Given the description of an element on the screen output the (x, y) to click on. 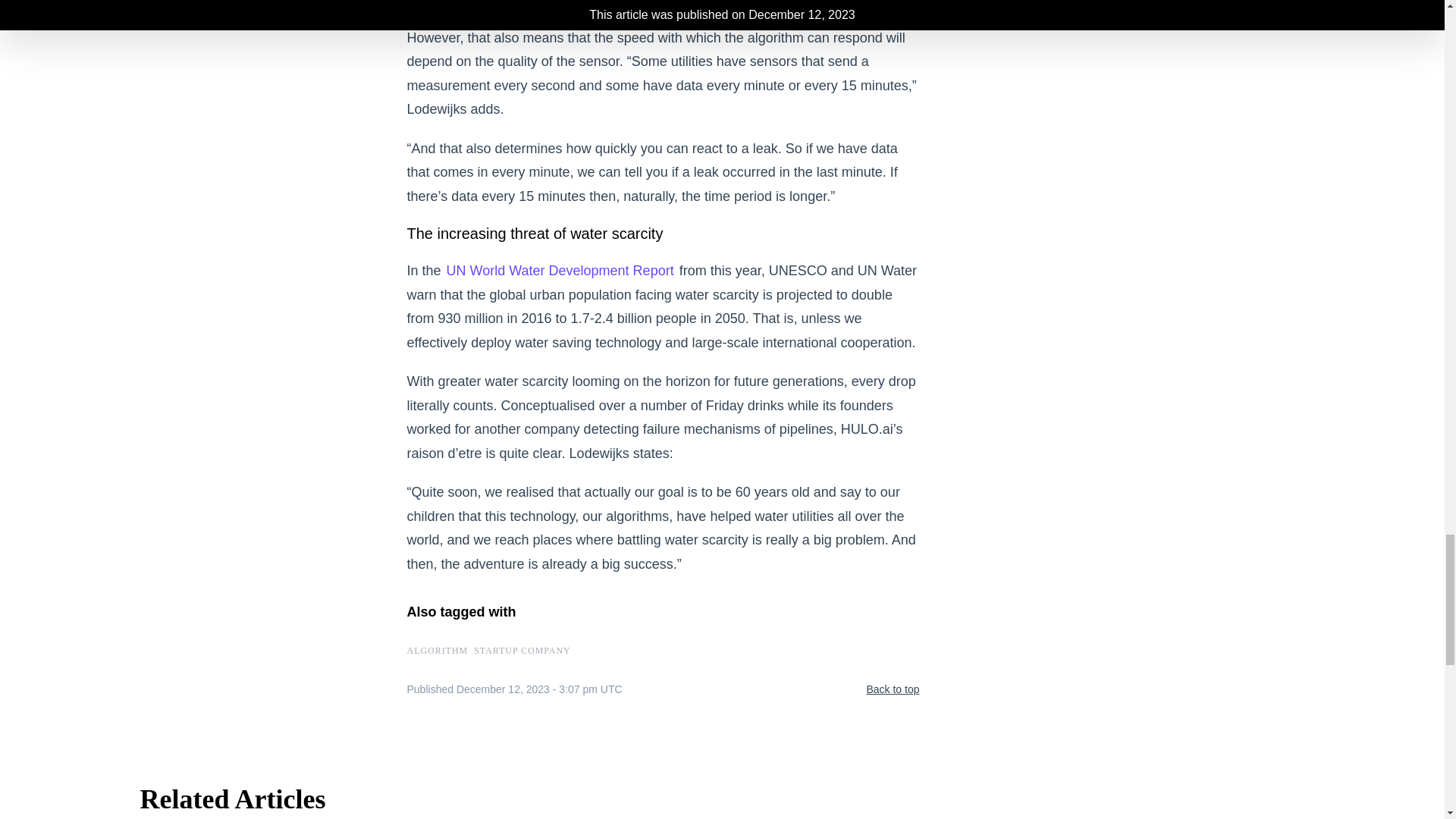
Back to top (892, 689)
